Given the description of an element on the screen output the (x, y) to click on. 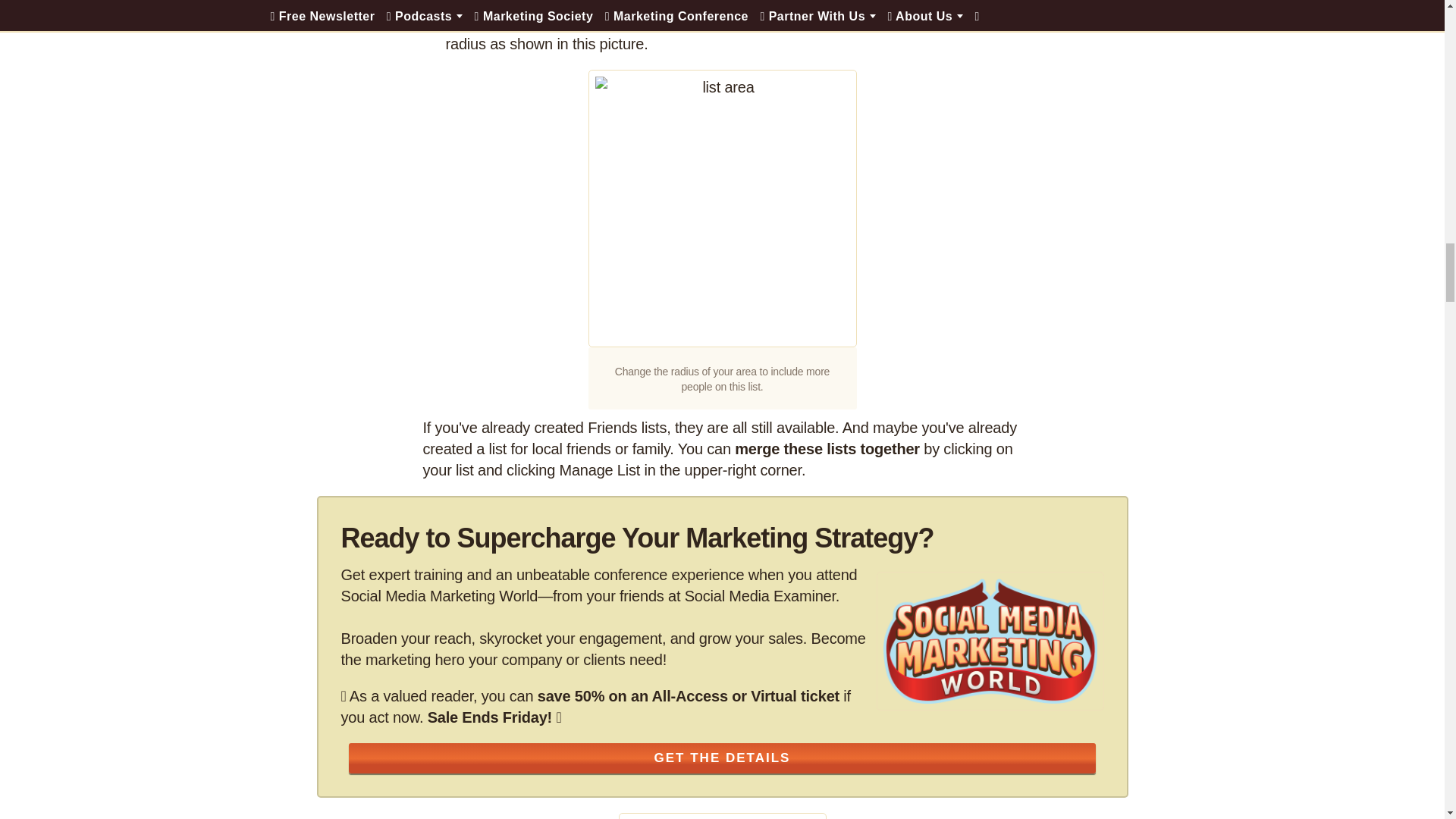
GET THE DETAILS (722, 757)
